Given the description of an element on the screen output the (x, y) to click on. 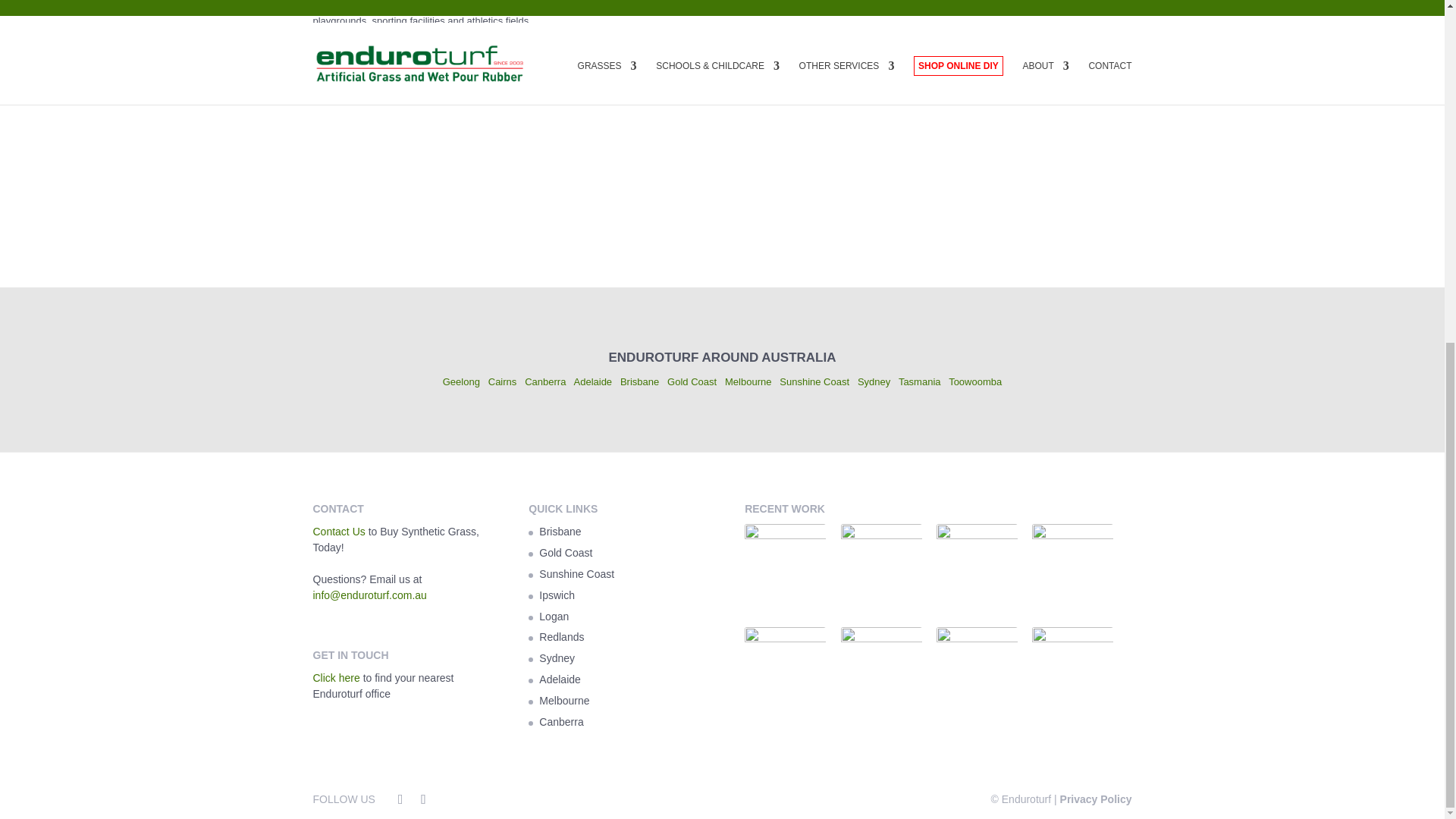
Brisbane (639, 381)
Gold Coast (691, 381)
Toowoomba (975, 381)
Adelaide (592, 381)
Melbourne (748, 381)
Contact Us (339, 531)
Tasmania (920, 381)
Canberra (545, 381)
Sunshine Coast (813, 381)
Cairns (501, 381)
Sydney (873, 381)
Geelong (461, 381)
